Given the description of an element on the screen output the (x, y) to click on. 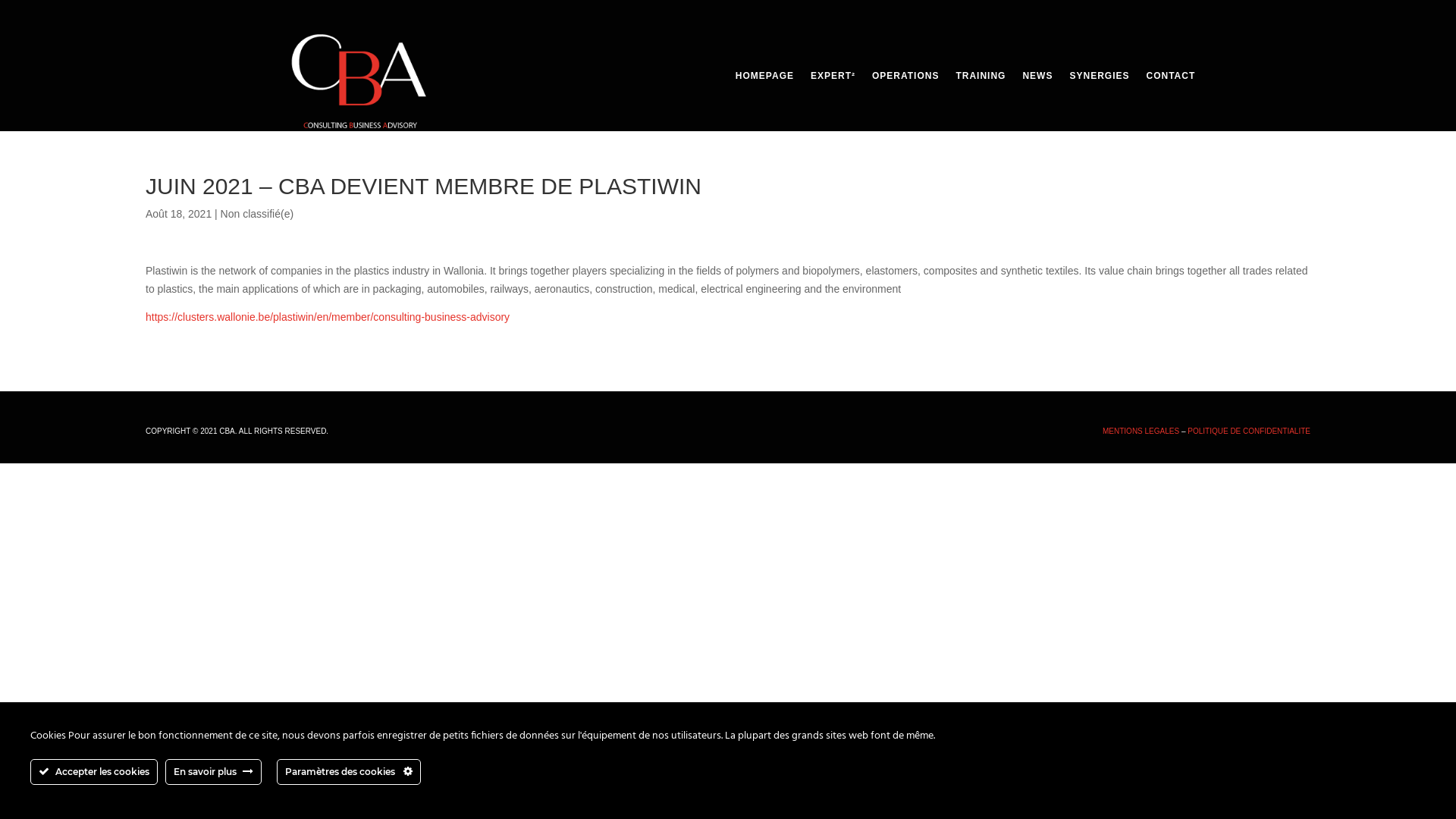
SYNERGIES Element type: text (1099, 78)
NEWS Element type: text (1037, 78)
MENTIONS LEGALES Element type: text (1140, 430)
TRAINING Element type: text (980, 78)
OPERATIONS Element type: text (905, 78)
cba-logo-white Element type: hover (358, 81)
CONTACT Element type: text (1170, 78)
POLITIQUE DE CONFIDENTIALITE Element type: text (1248, 430)
HOMEPAGE Element type: text (764, 78)
